Given the description of an element on the screen output the (x, y) to click on. 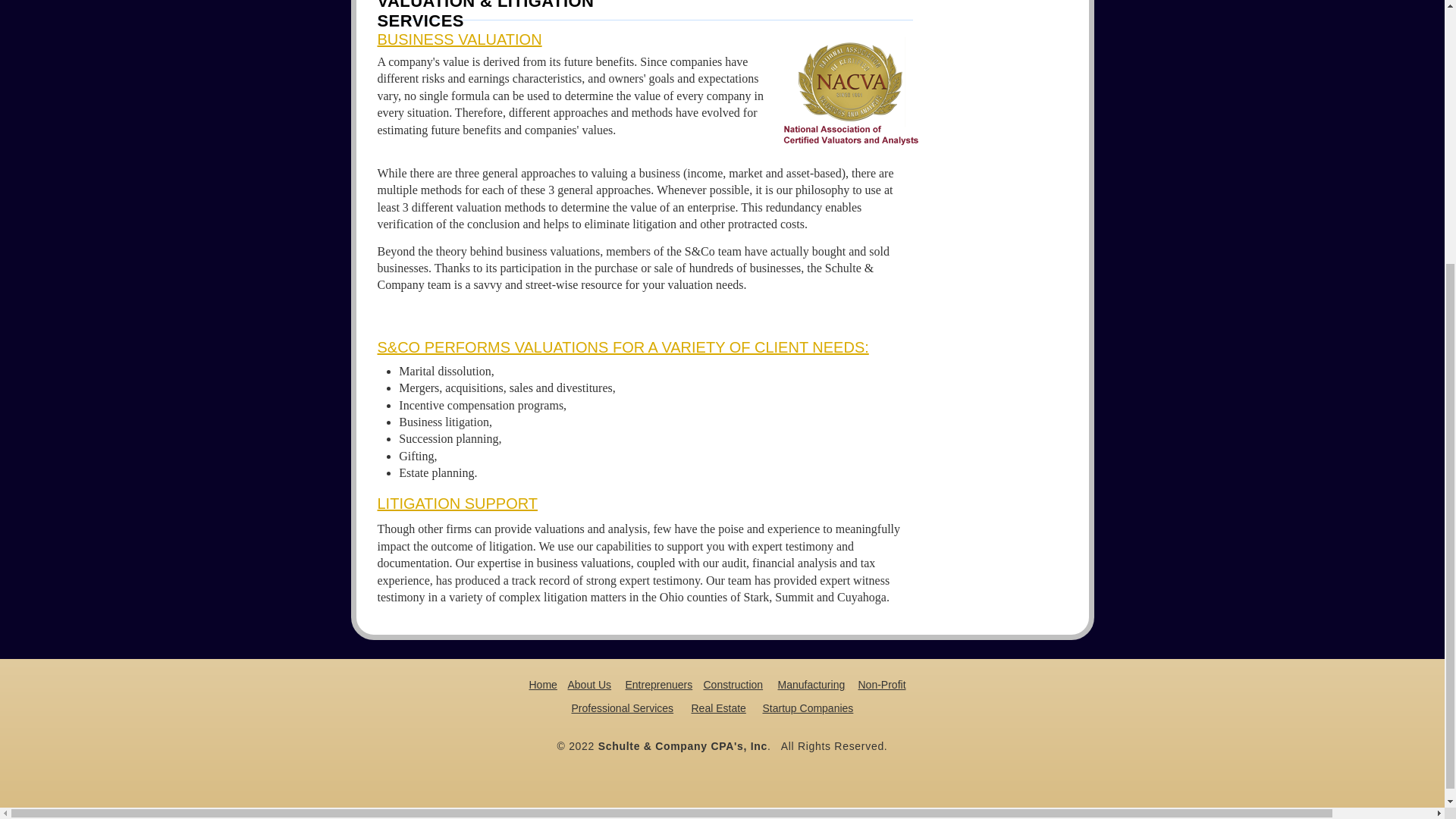
NACVA-logo.png (850, 92)
